Given the description of an element on the screen output the (x, y) to click on. 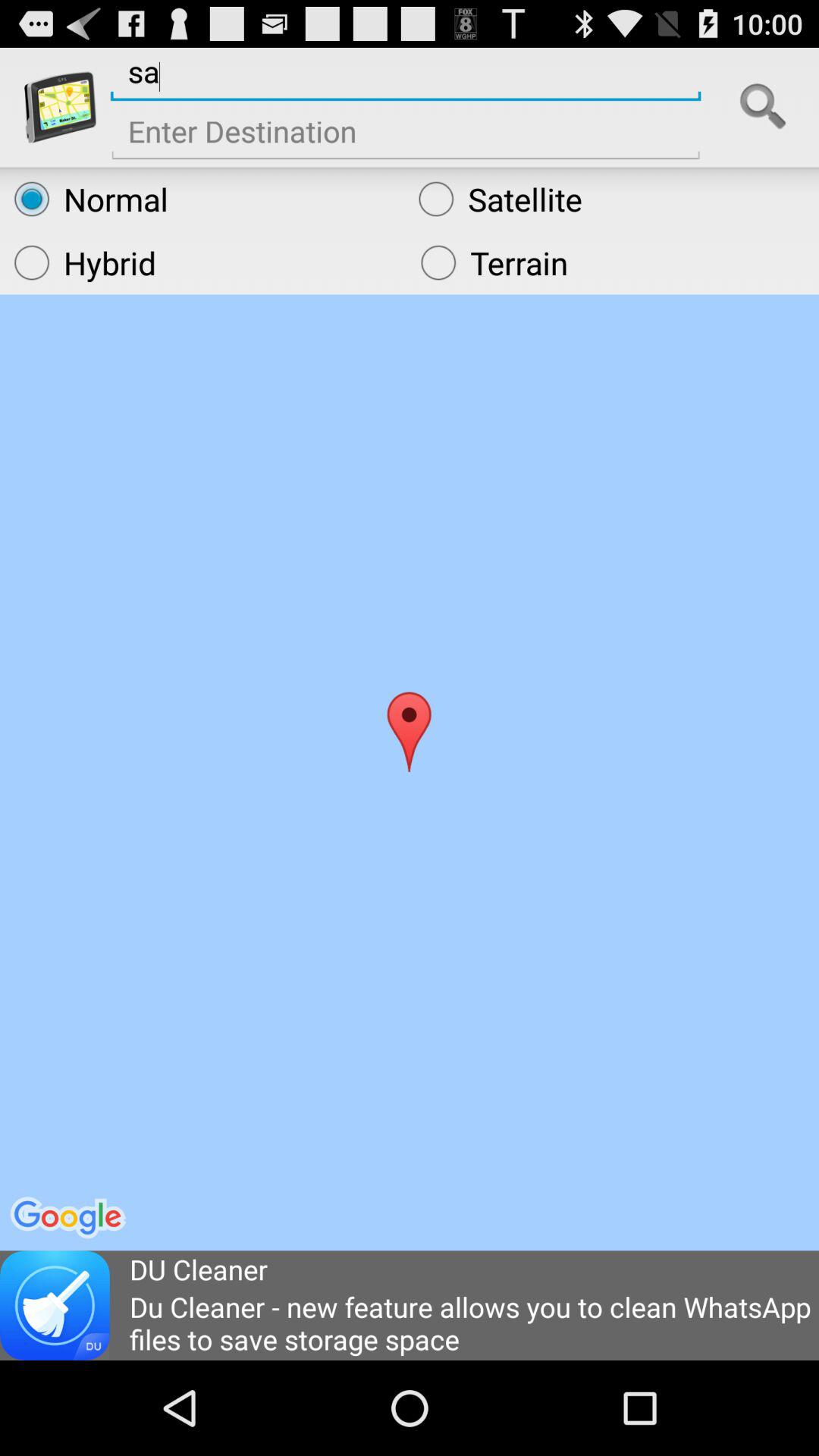
enter destinaltion (405, 137)
